Given the description of an element on the screen output the (x, y) to click on. 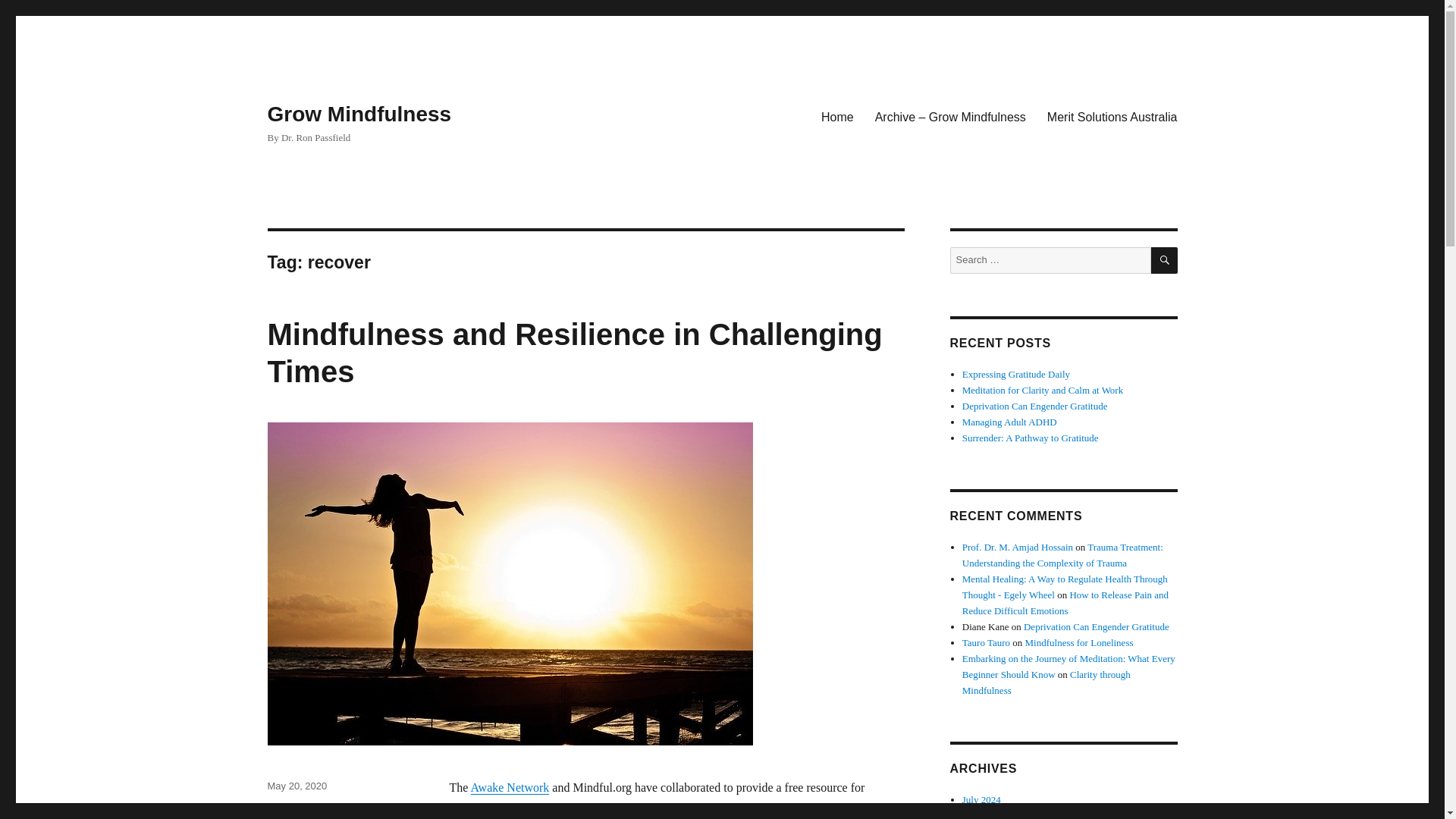
Awake Network (509, 787)
Merit Solutions Australia (1112, 116)
May 20, 2020 (296, 785)
Mental Health (296, 807)
Home (837, 116)
Grow Mindfulness (358, 114)
Mindfulness and Resilience in Challenging Times (574, 352)
